Given the description of an element on the screen output the (x, y) to click on. 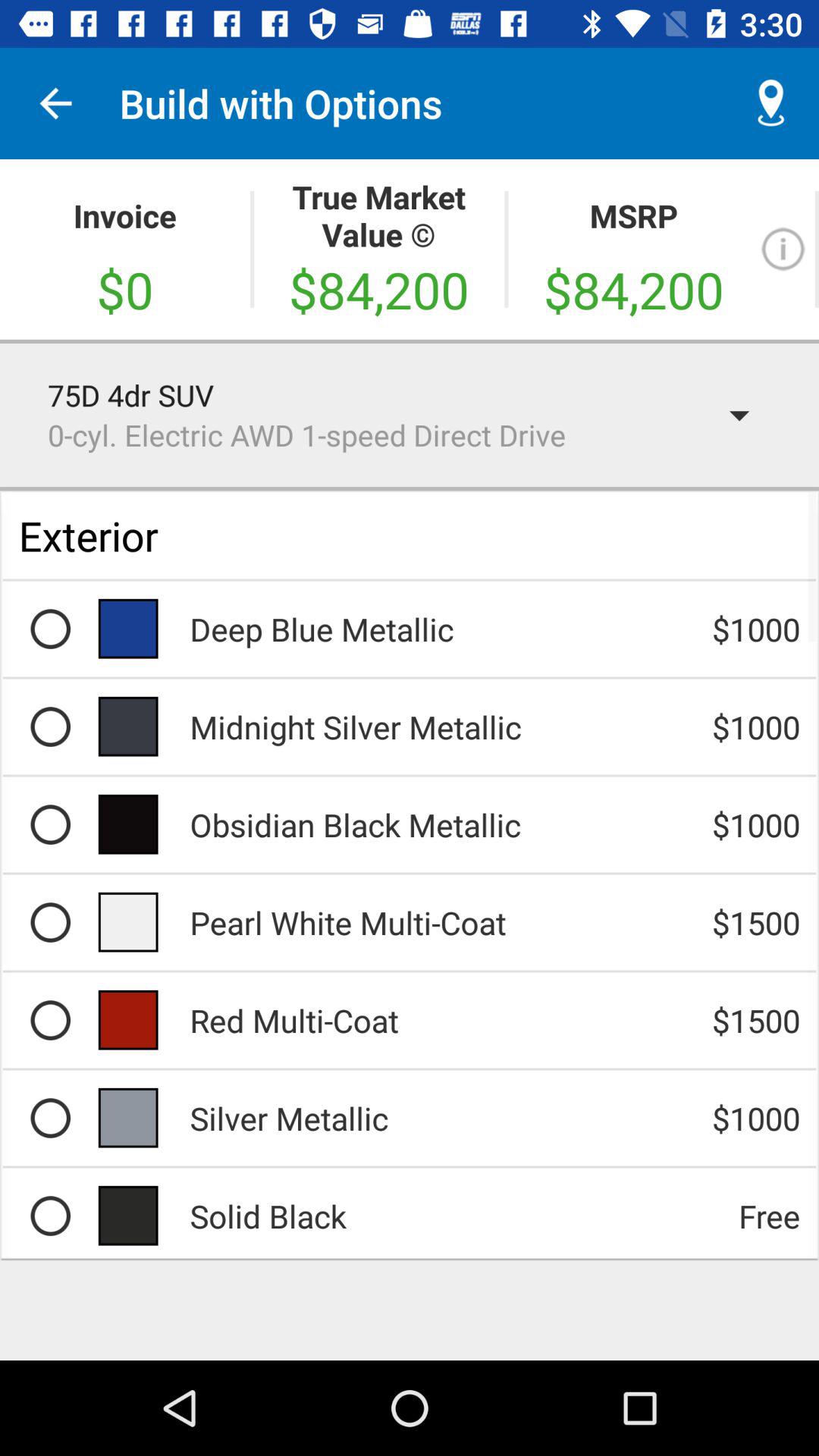
select color (50, 922)
